Given the description of an element on the screen output the (x, y) to click on. 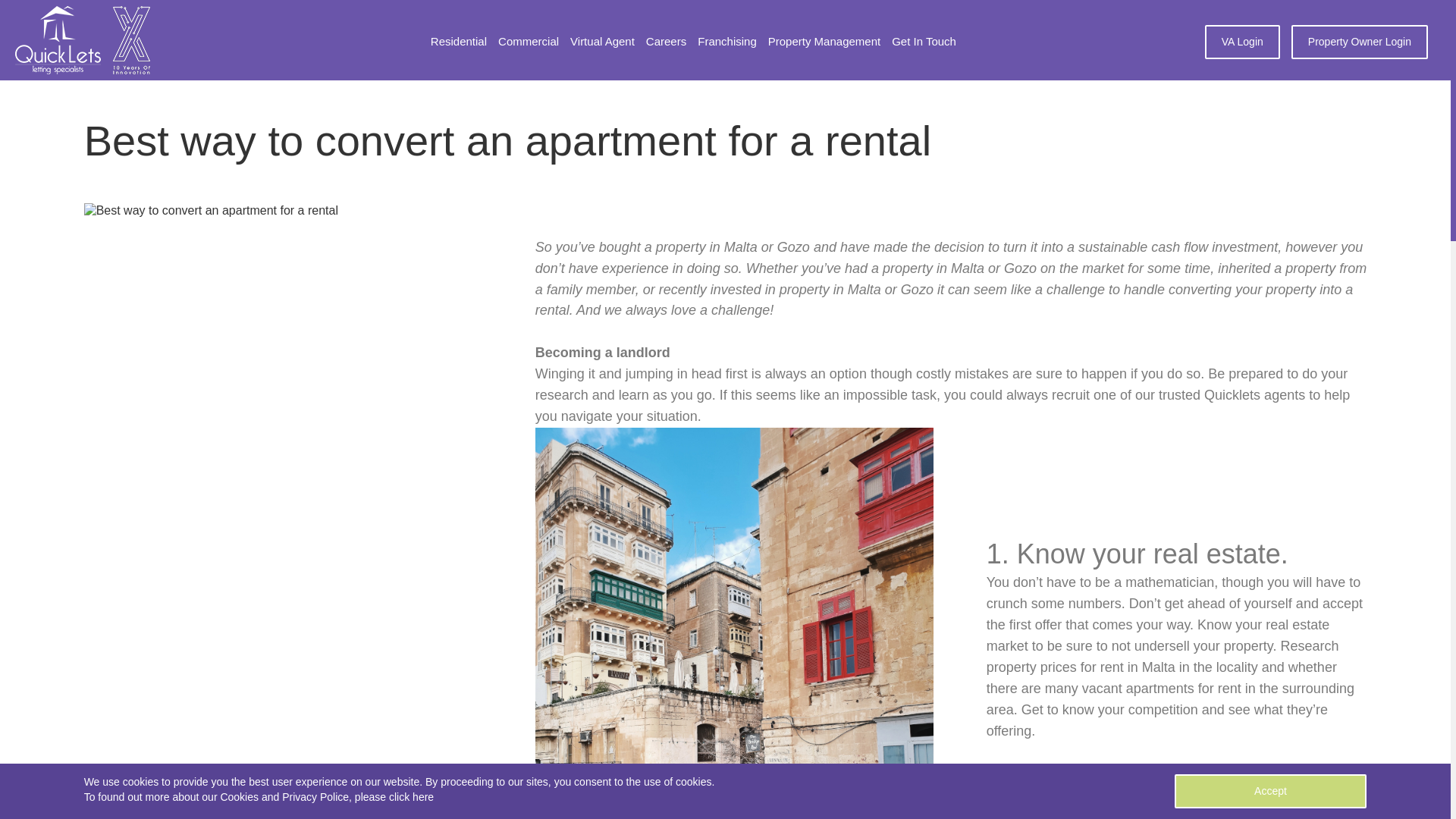
Virtual Agent (602, 42)
Property Owner Login (1359, 41)
Get In Touch (923, 42)
Property Management (824, 42)
Commercial (528, 42)
Quicklets Letting made easy (57, 39)
Residential (458, 42)
Franchising (727, 42)
VA Login (1242, 41)
Careers (665, 42)
